Given the description of an element on the screen output the (x, y) to click on. 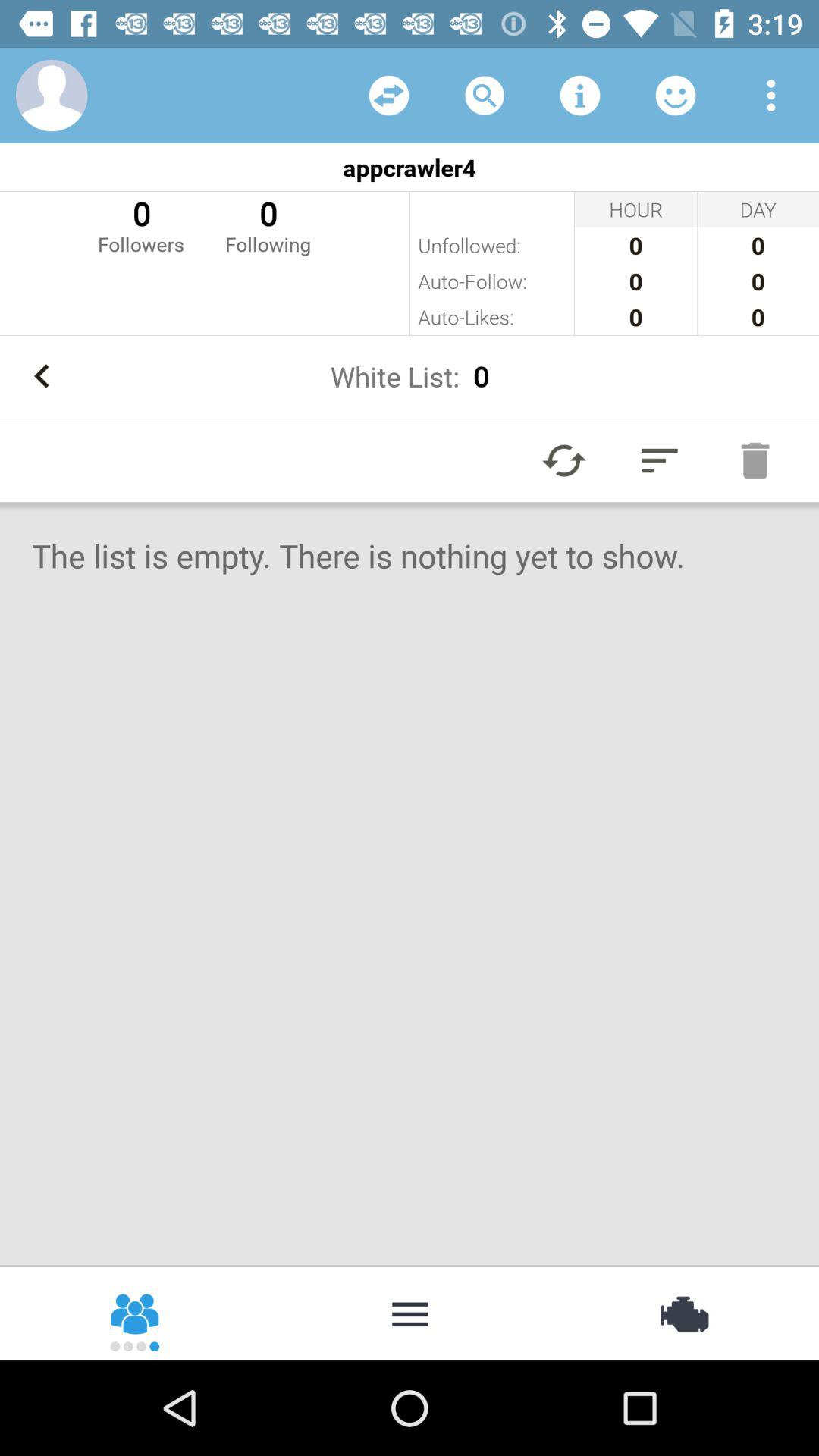
turn on icon to the left of the white list:  0 (41, 376)
